Given the description of an element on the screen output the (x, y) to click on. 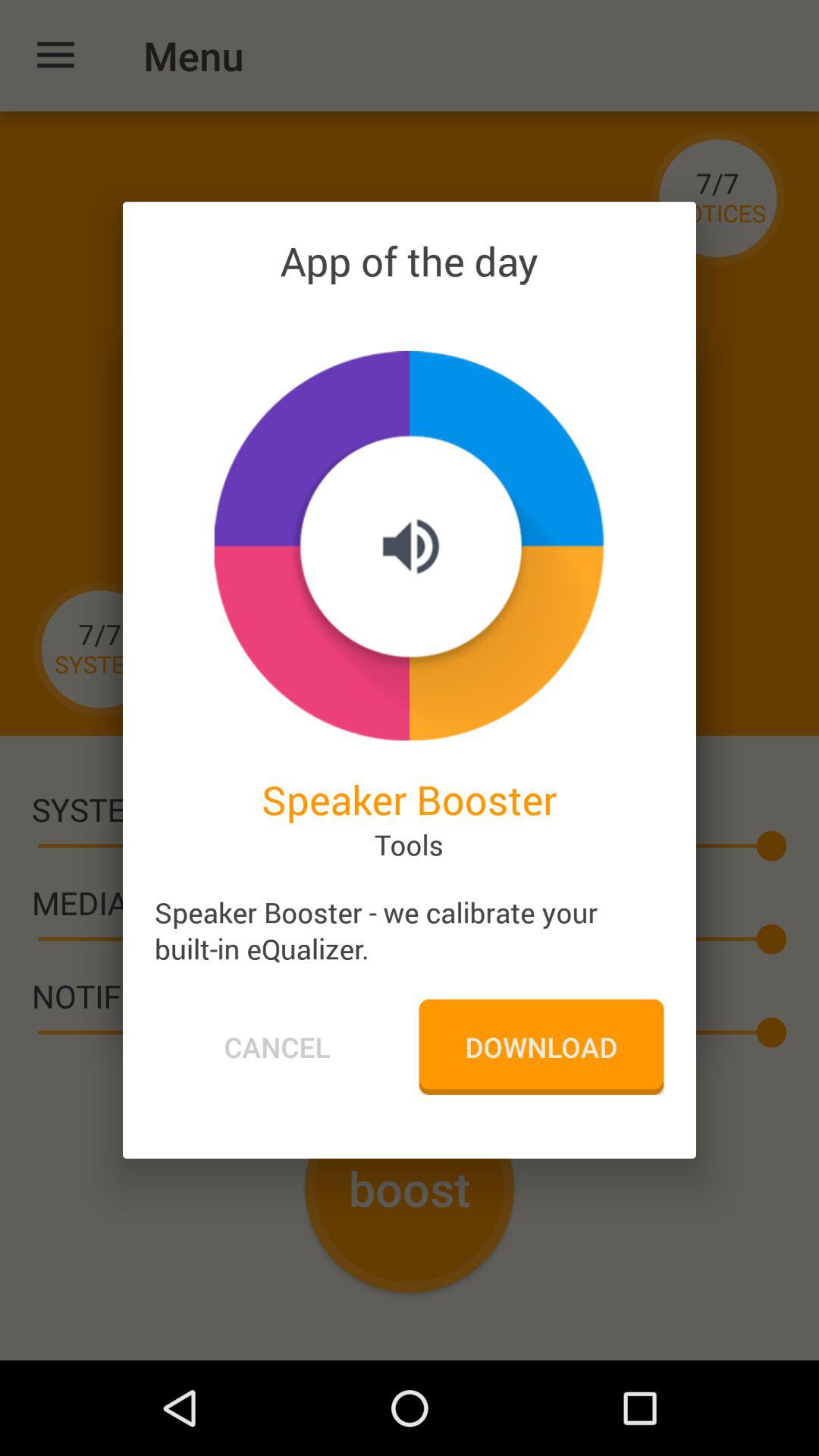
choose the icon next to the download icon (276, 1046)
